Given the description of an element on the screen output the (x, y) to click on. 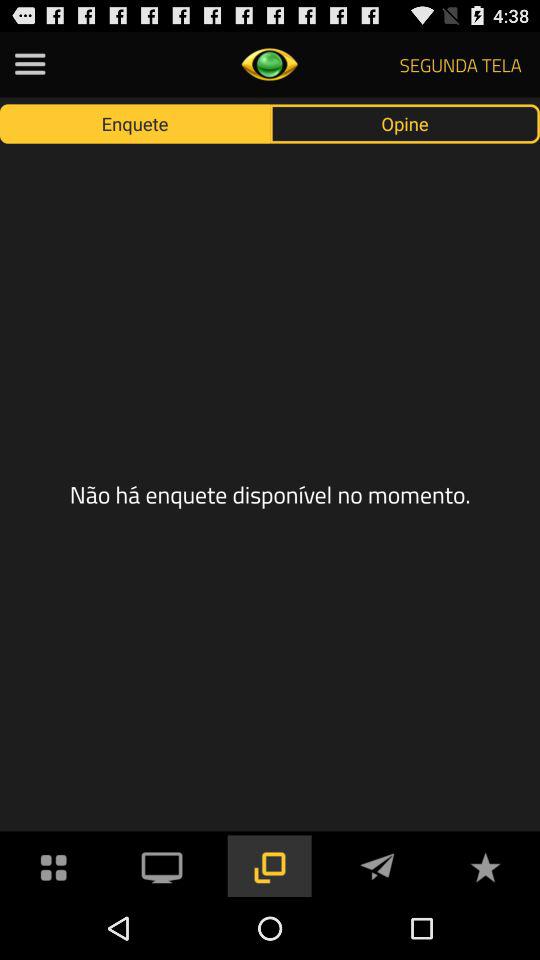
this is the settings button for the app (29, 64)
